Given the description of an element on the screen output the (x, y) to click on. 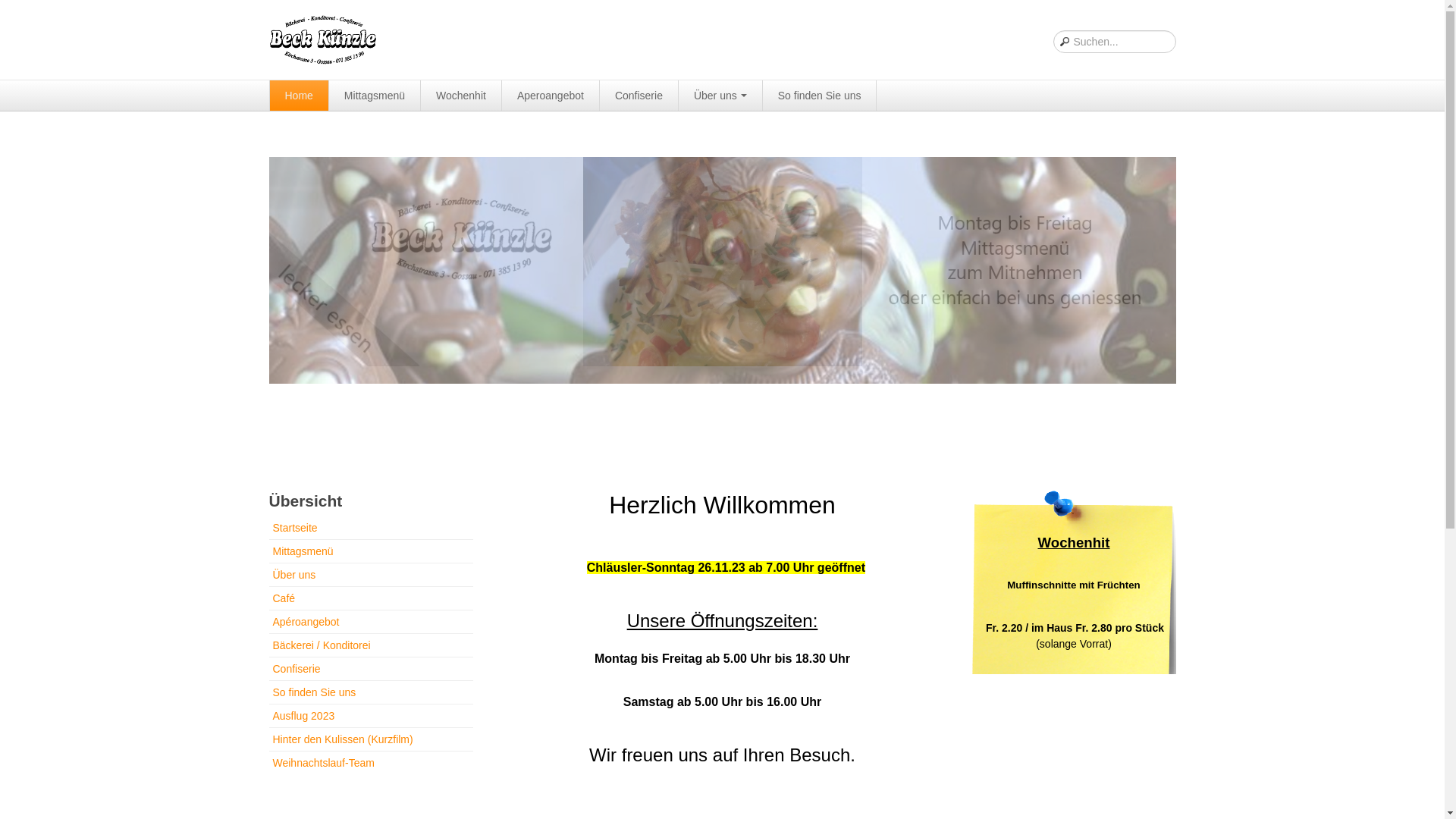
So finden Sie uns Element type: text (370, 691)
Startseite Element type: text (370, 529)
Wochenhit Element type: text (461, 95)
Confiserie Element type: text (370, 668)
Hinter den Kulissen (Kurzfilm) Element type: text (370, 739)
Confiserie Element type: text (638, 95)
Home Element type: text (299, 95)
Aperoangebot Element type: text (550, 95)
So finden Sie uns Element type: text (819, 95)
Weihnachtslauf-Team Element type: text (370, 762)
Ausflug 2023 Element type: text (370, 715)
